Given the description of an element on the screen output the (x, y) to click on. 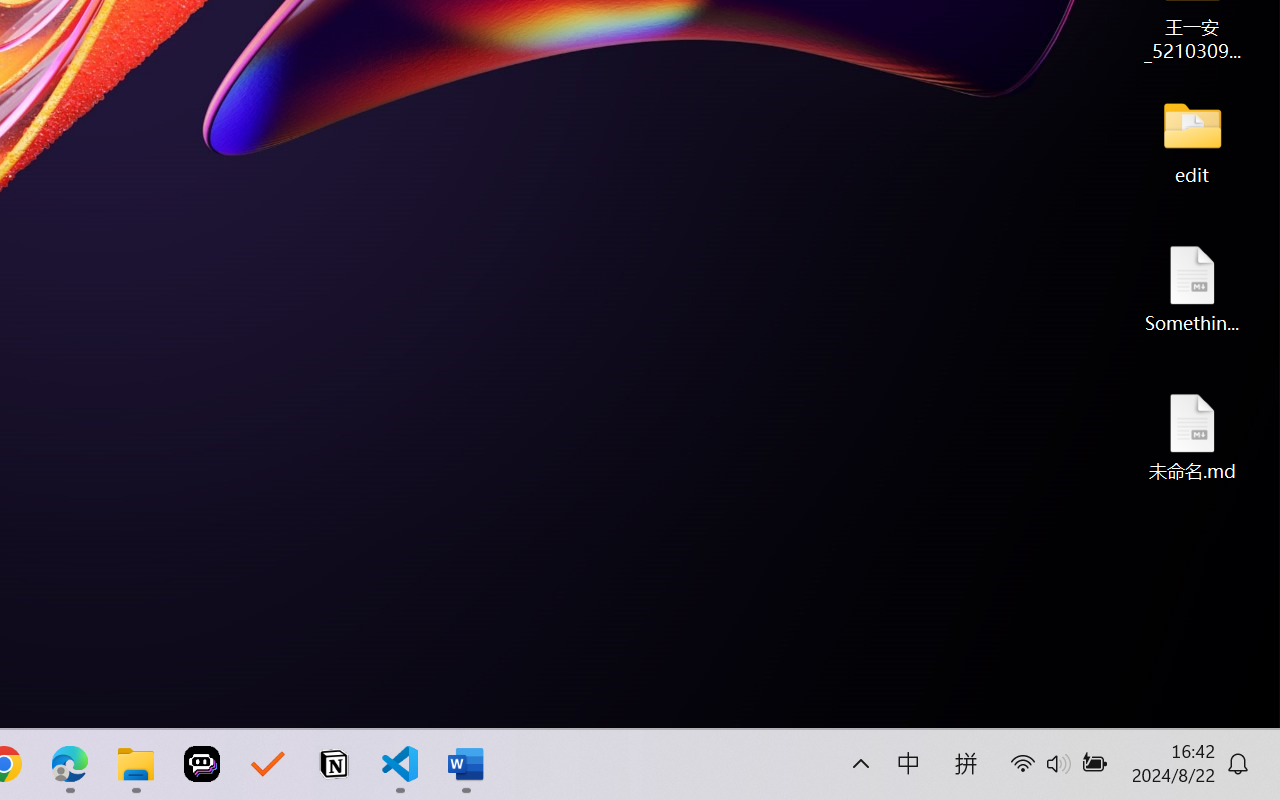
Something.md (1192, 288)
